Given the description of an element on the screen output the (x, y) to click on. 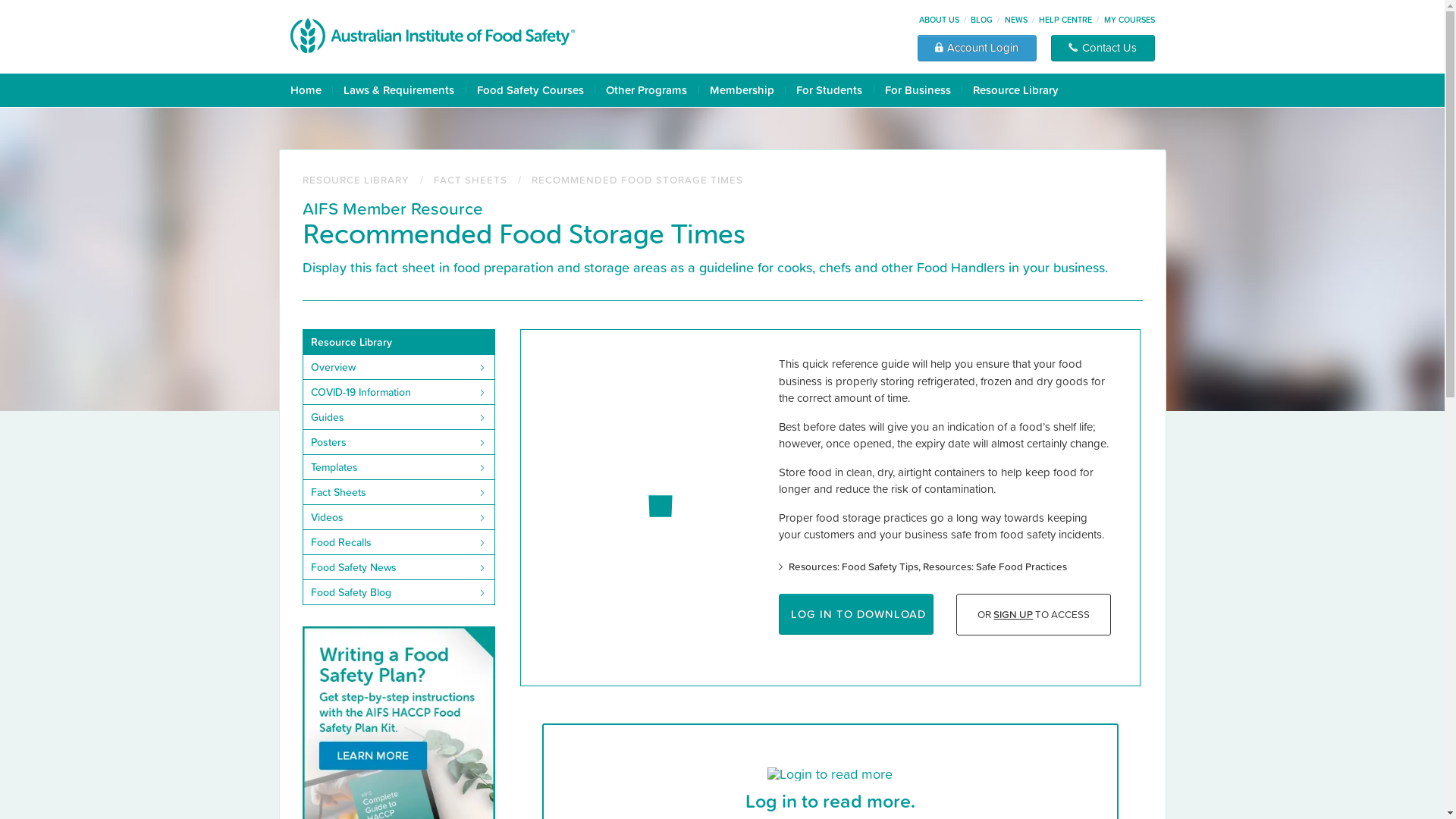
ABOUT US Element type: text (939, 19)
LOG IN TO DOWNLOAD Element type: text (855, 613)
Food Safety Blog Element type: text (399, 591)
For Students Element type: text (834, 89)
FACT SHEETS Element type: text (470, 178)
For Business Element type: text (922, 89)
RESOURCE LIBRARY Element type: text (354, 178)
RECOMMENDED FOOD STORAGE TIMES Element type: text (636, 178)
BLOG Element type: text (981, 19)
Videos Element type: text (399, 516)
Menu Element type: text (15, 12)
Laws & Requirements Element type: text (403, 89)
MY COURSES Element type: text (1129, 19)
Food Recalls Element type: text (399, 541)
Fact Sheets Element type: text (399, 491)
Resources: Food Safety Tips Element type: text (854, 566)
Resource Library Element type: text (399, 341)
Skip to main content Element type: text (0, 0)
Membership Element type: text (746, 89)
Resources: Safe Food Practices Element type: text (994, 566)
Guides Element type: text (399, 416)
SIGN UP Element type: text (1012, 613)
Food Safety Courses Element type: text (534, 89)
NEWS Element type: text (1015, 19)
Home Element type: text (310, 89)
Resource Library Element type: text (1020, 89)
Contact Us Element type: text (1102, 47)
Food Safety News Element type: text (399, 566)
Overview Element type: text (399, 366)
Posters Element type: text (399, 441)
Account Login Element type: text (976, 47)
Templates Element type: text (399, 466)
Other Programs Element type: text (651, 89)
COVID-19 Information Element type: text (399, 391)
HELP CENTRE Element type: text (1065, 19)
